Given the description of an element on the screen output the (x, y) to click on. 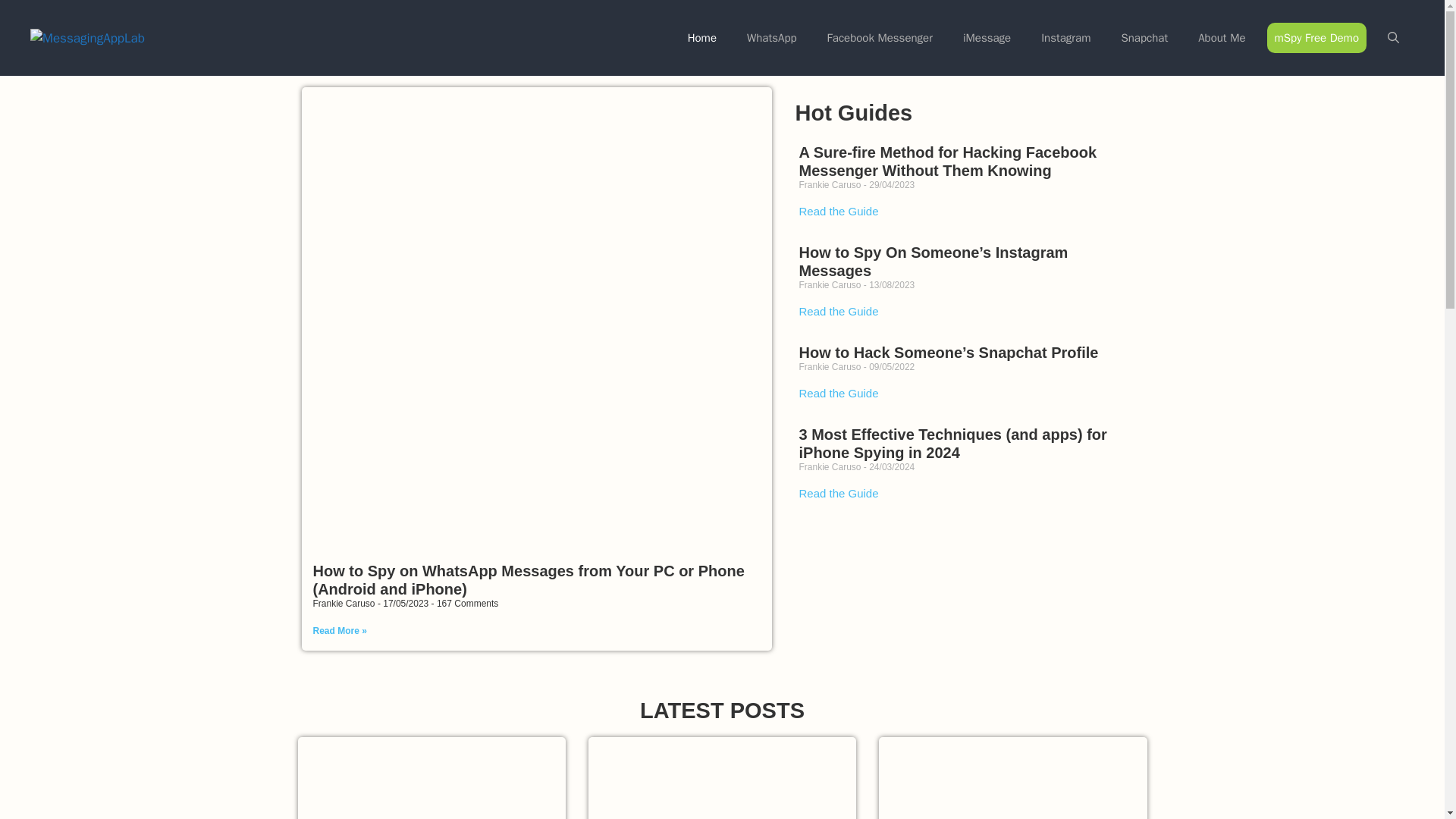
Read the Guide (837, 492)
Instagram (1065, 37)
Read the Guide (837, 310)
Home (702, 37)
iMessage (986, 37)
Read the Guide (837, 210)
Facebook Messenger (879, 37)
Read the Guide (837, 392)
About Me (1221, 37)
